Given the description of an element on the screen output the (x, y) to click on. 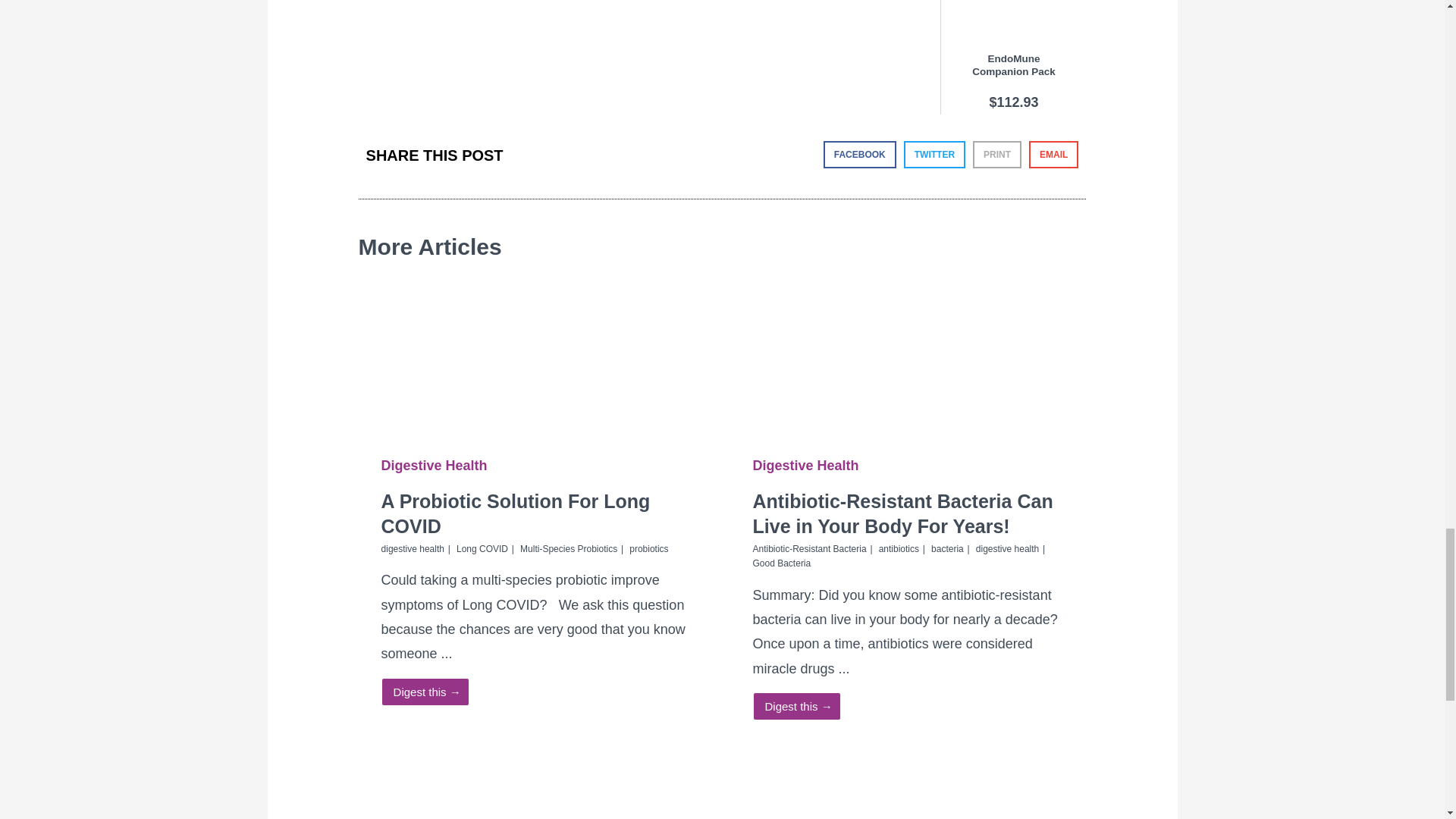
A Probiotic Solution For Long COVID (536, 350)
